Given the description of an element on the screen output the (x, y) to click on. 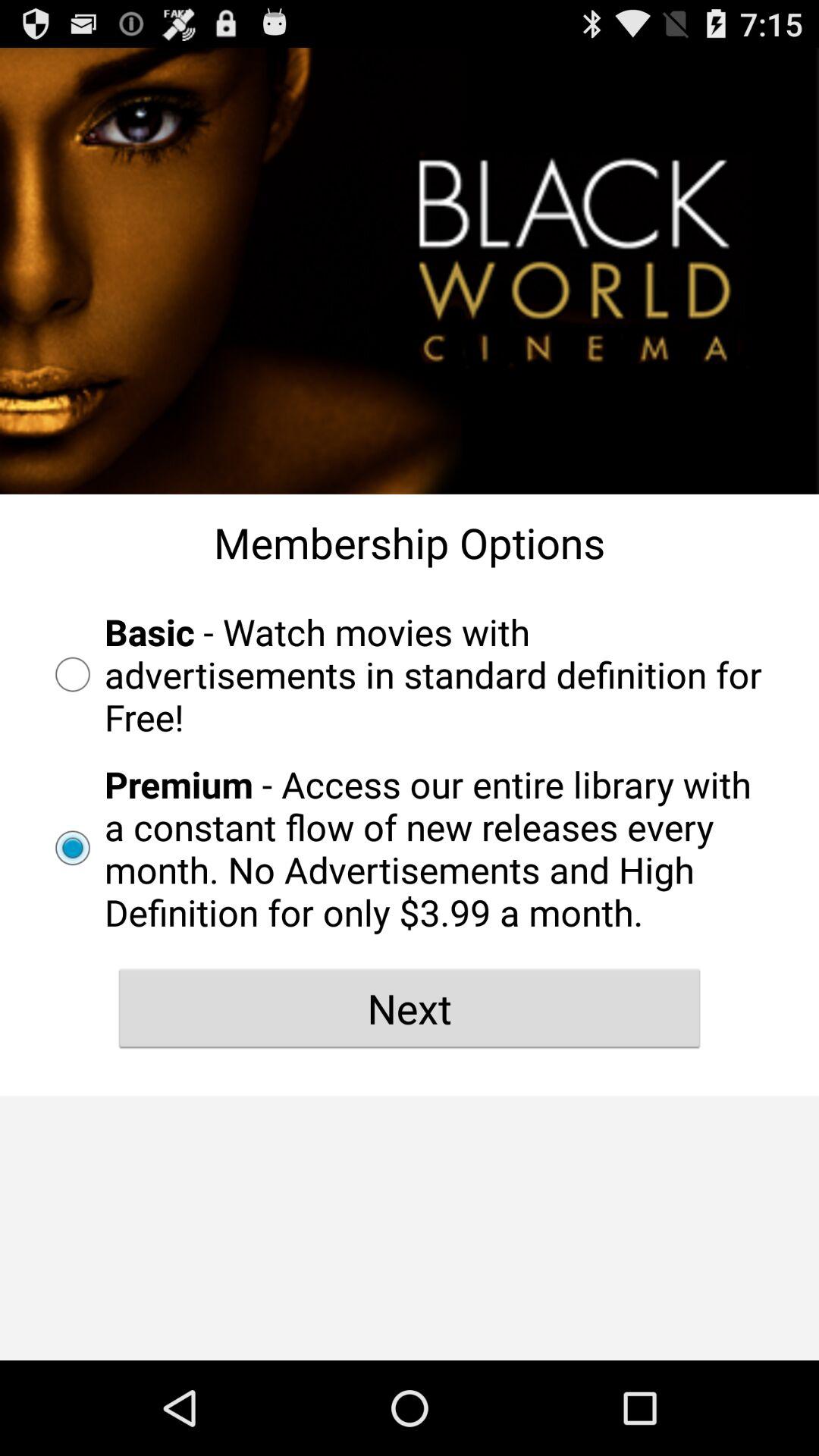
click basic watch movies item (409, 674)
